Given the description of an element on the screen output the (x, y) to click on. 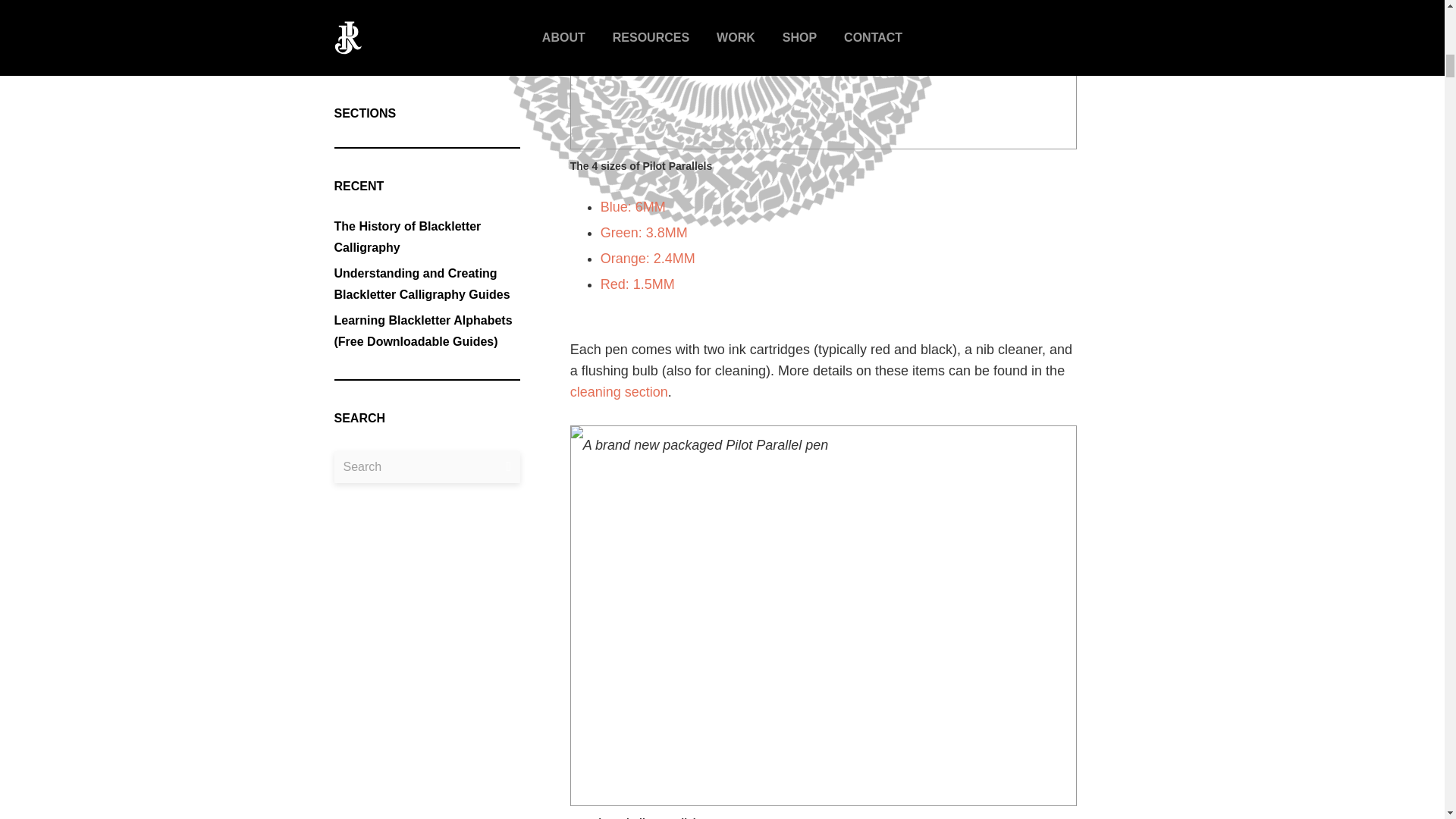
Orange: 2.4MM (647, 258)
Red: 1.5MM (637, 283)
cleaning section (619, 391)
Blue: 6MM (632, 206)
Green: 3.8MM (643, 232)
